Given the description of an element on the screen output the (x, y) to click on. 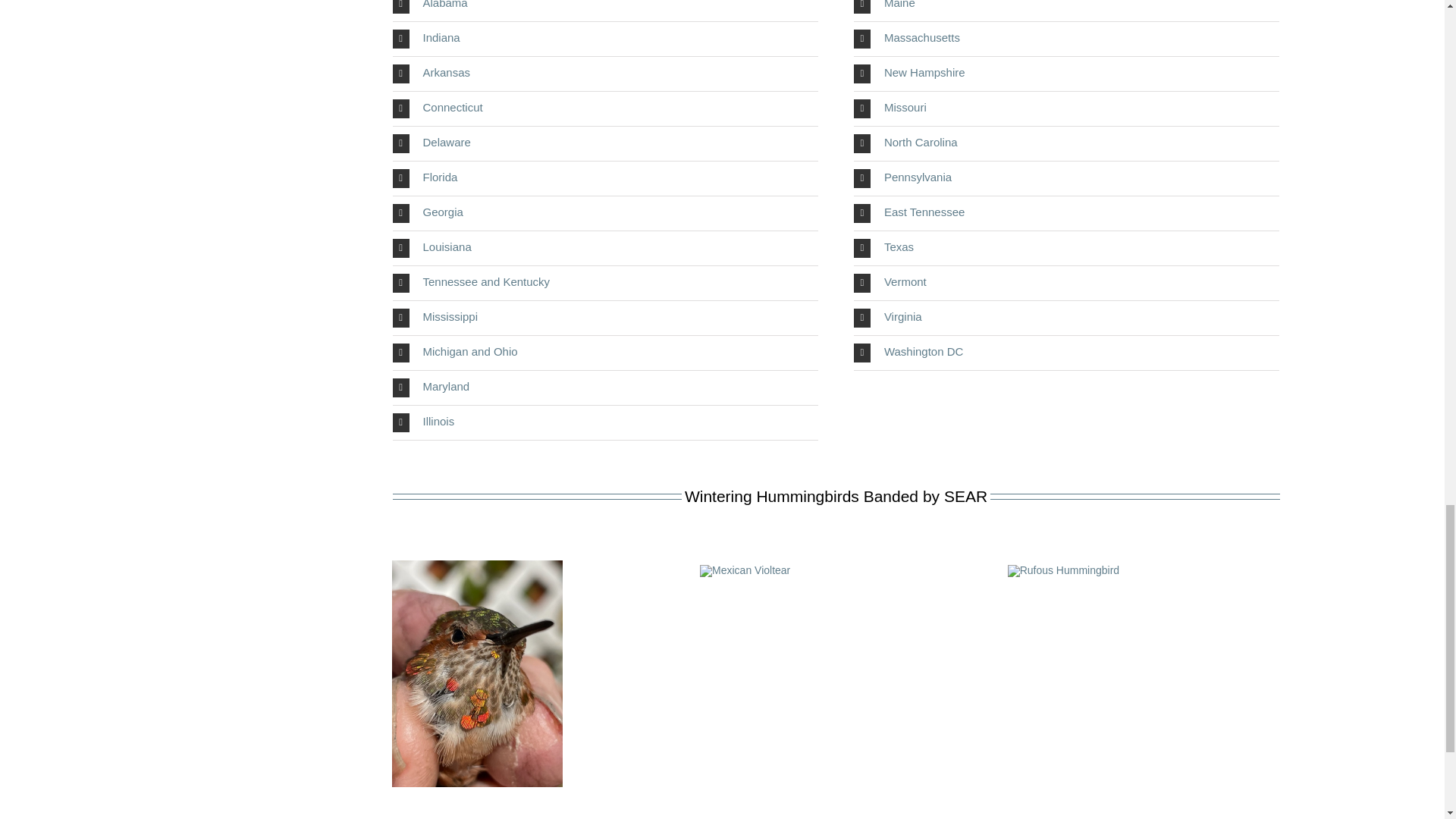
Delaware (605, 143)
Lincoln County ALHU when Fred Caught in Alabama (476, 565)
Wintering Hummingbirds Banded by SEAR (836, 515)
Georgia (605, 213)
Connecticut (605, 108)
Hummingbird Banding Images (836, 810)
Arkansas (605, 73)
Florida (605, 178)
Alabama (605, 10)
Indiana (605, 39)
